Given the description of an element on the screen output the (x, y) to click on. 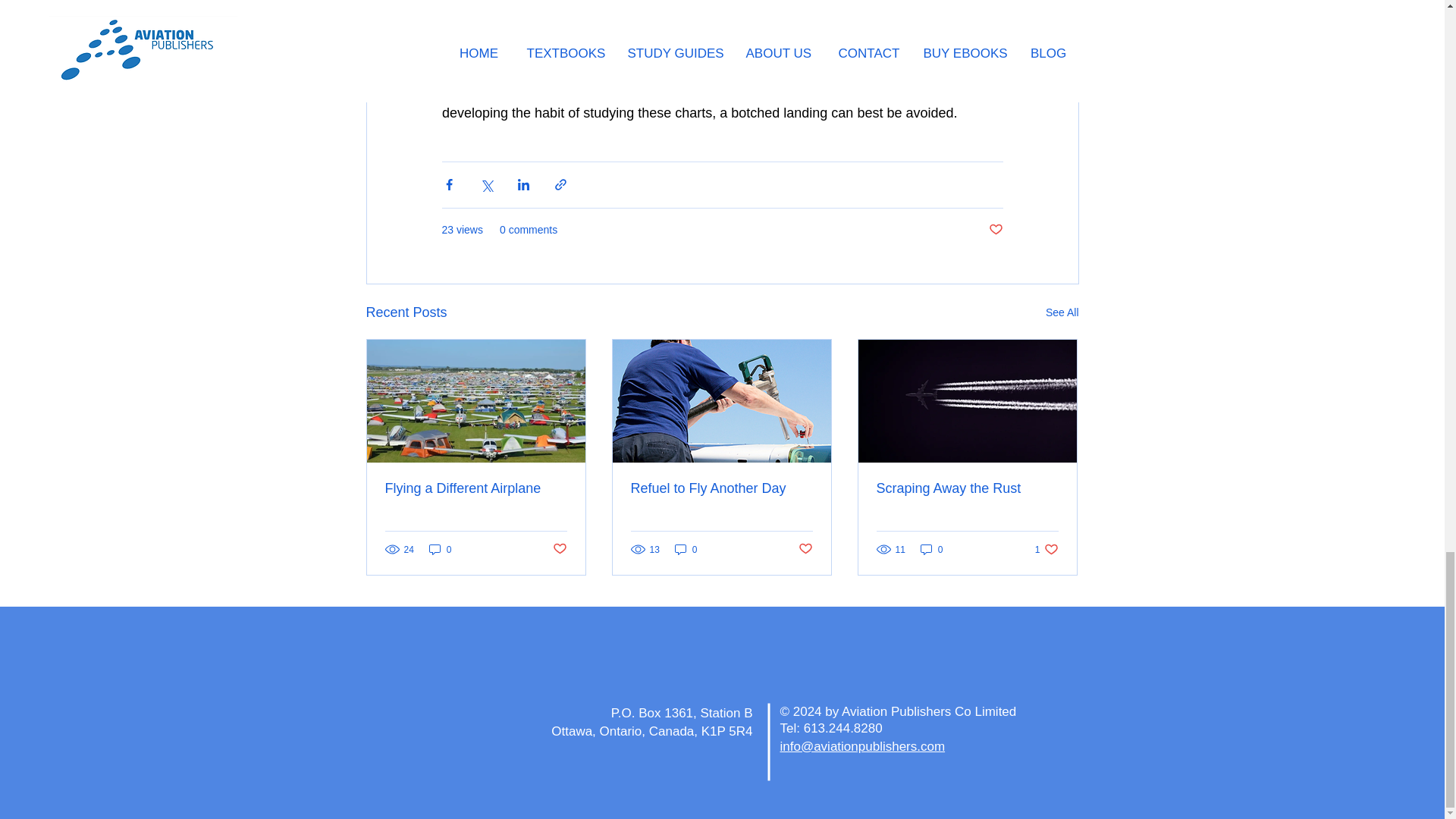
0 (440, 549)
Post not marked as liked (1046, 549)
0 (995, 229)
See All (931, 549)
Flying a Different Airplane (1061, 312)
Refuel to Fly Another Day (476, 488)
Post not marked as liked (721, 488)
Scraping Away the Rust (558, 549)
0 (967, 488)
